Given the description of an element on the screen output the (x, y) to click on. 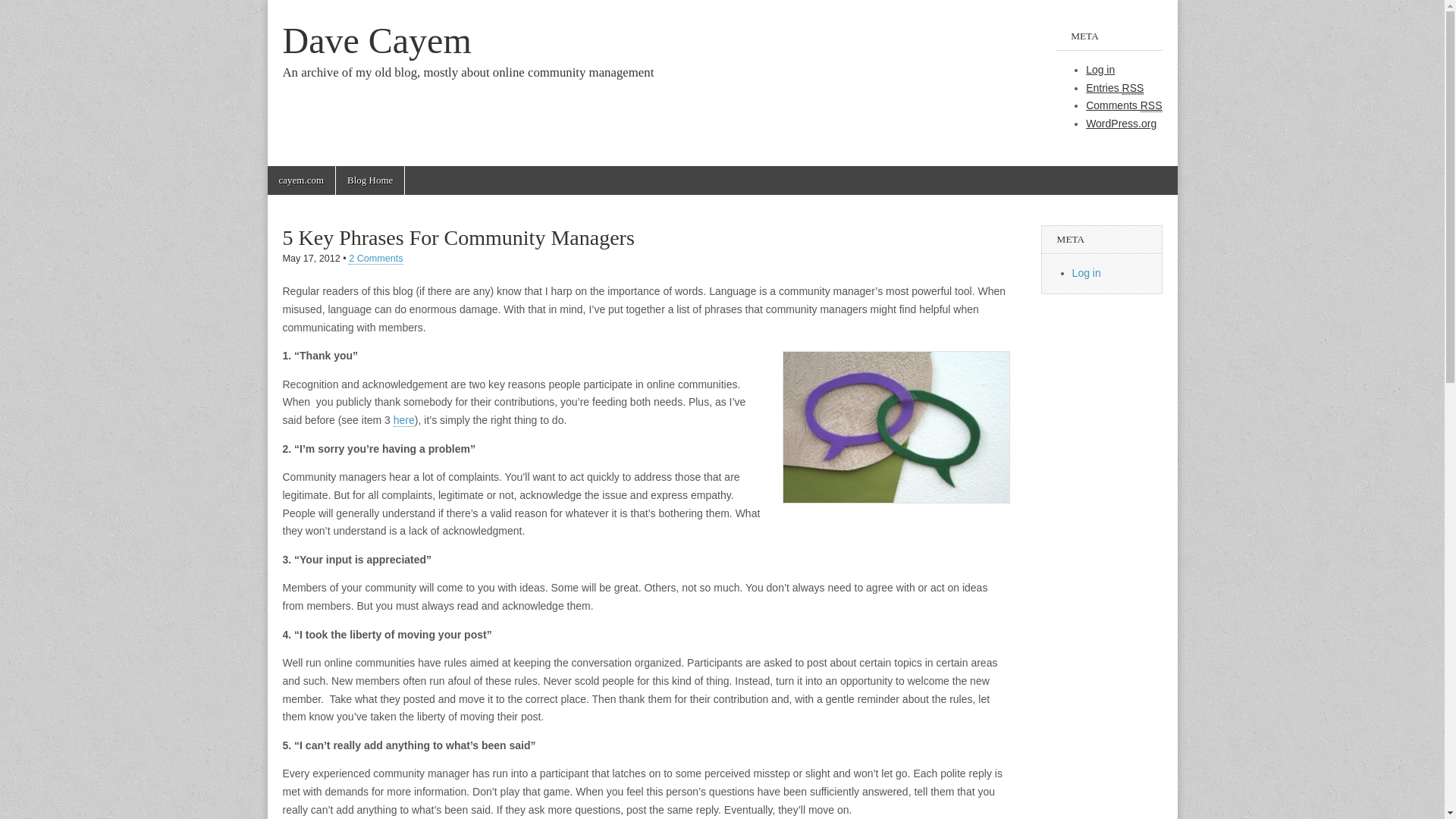
Blog Home (370, 180)
Really Simple Syndication (1150, 105)
Really Simple Syndication (1133, 88)
Skip to content (296, 174)
WordPress.org (1121, 123)
here (403, 420)
Log in (1085, 272)
Log in (1100, 69)
Skip to content (296, 174)
speech bubbles (896, 427)
Entries RSS (1114, 88)
Dave Cayem (376, 40)
cayem.com (300, 180)
Comments RSS (1123, 105)
